Given the description of an element on the screen output the (x, y) to click on. 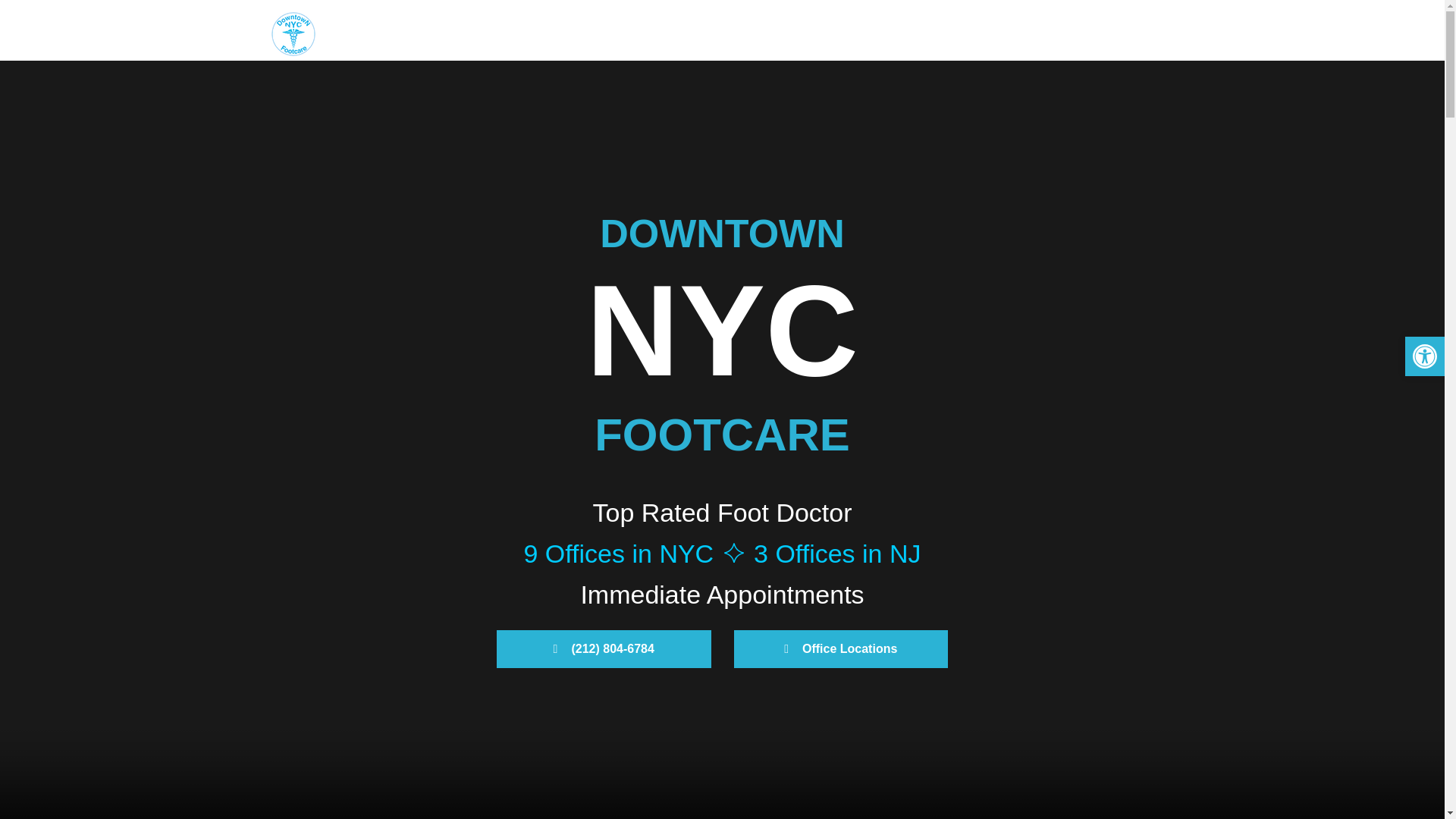
Office Locations (841, 648)
Accessibility Tools (1424, 355)
